Given the description of an element on the screen output the (x, y) to click on. 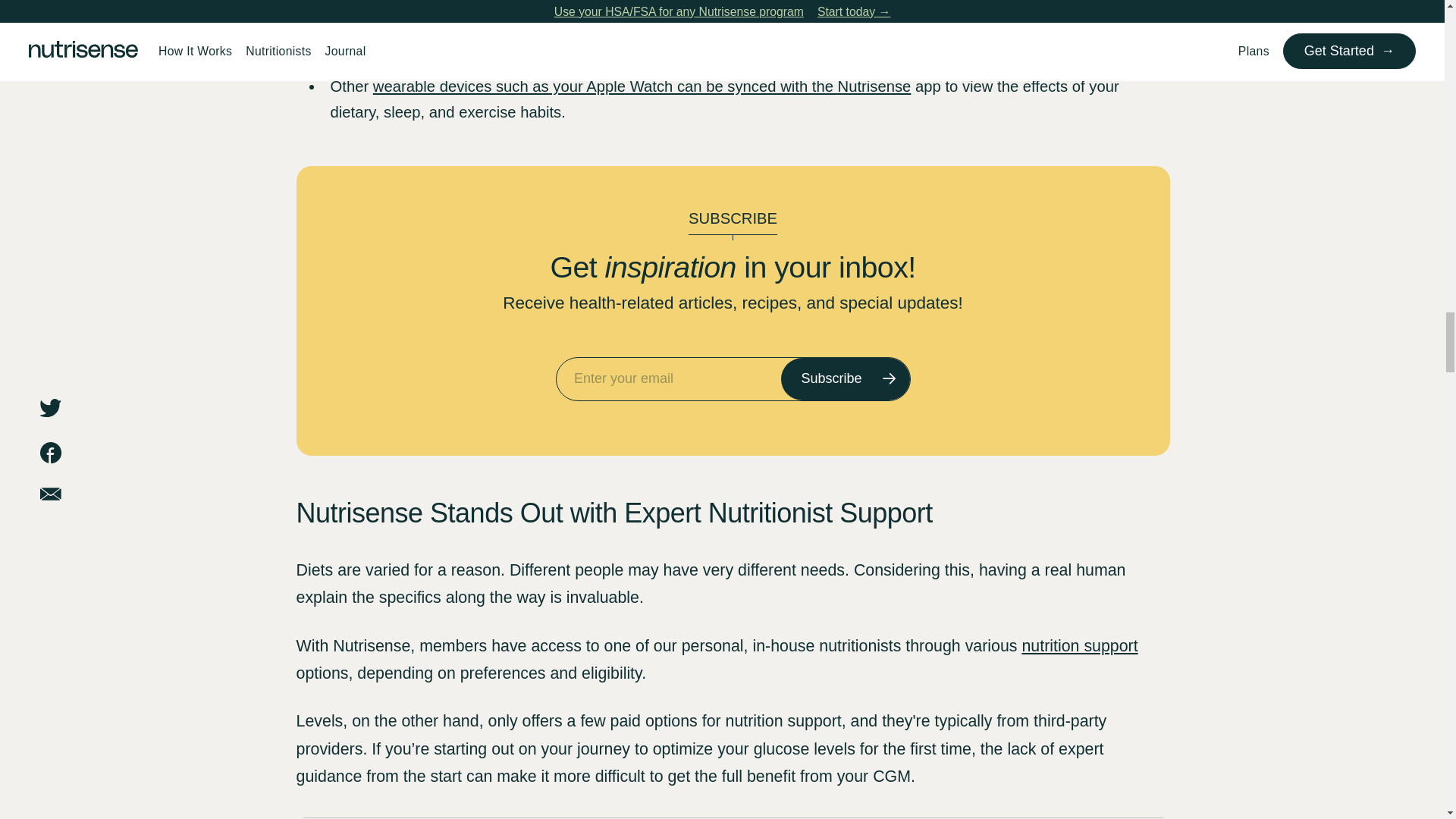
nutrition support (1079, 646)
Subscribe (845, 378)
Subscribe (845, 378)
